Given the description of an element on the screen output the (x, y) to click on. 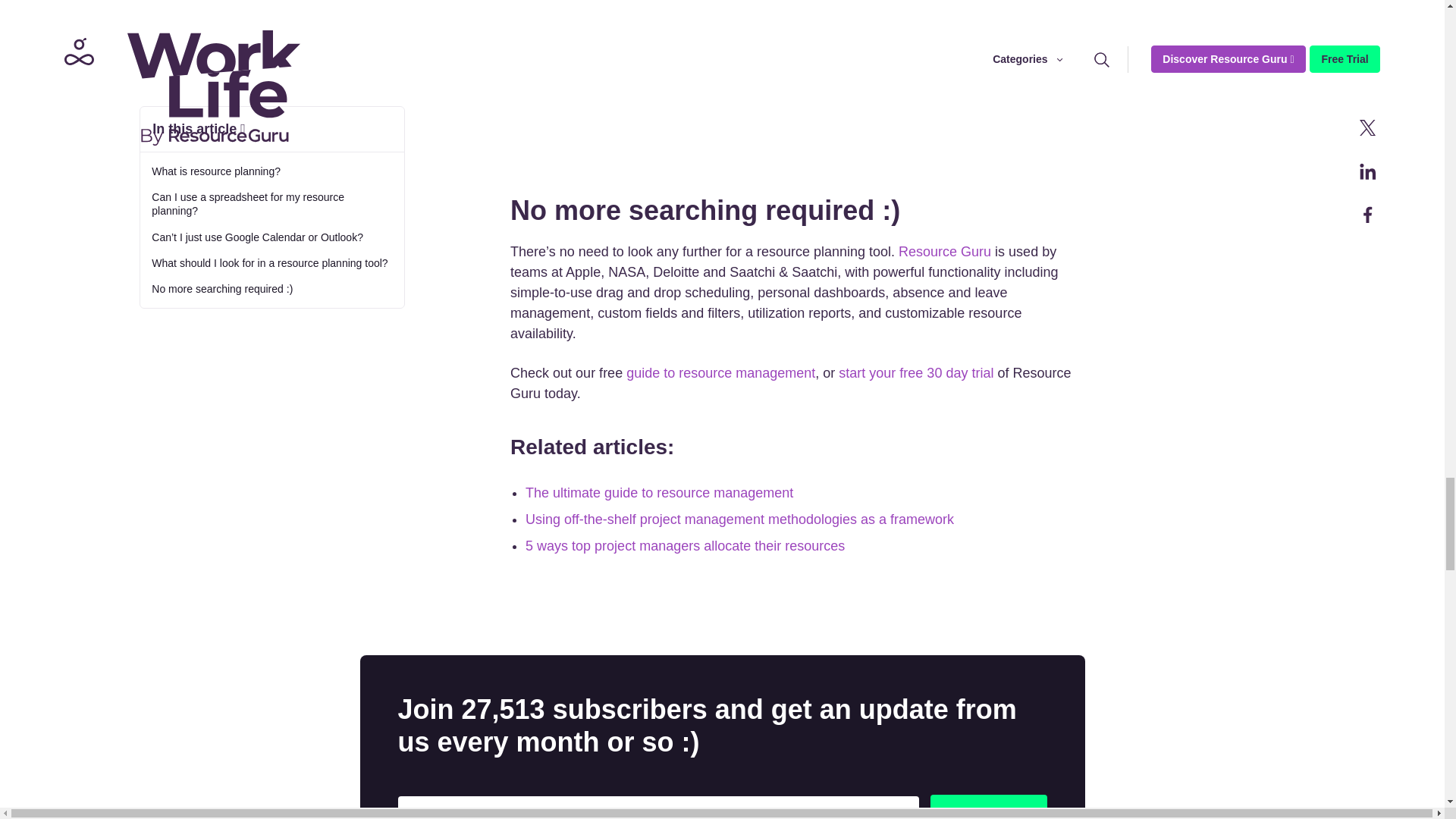
Resource Guru (944, 251)
Subscribe (988, 806)
